Given the description of an element on the screen output the (x, y) to click on. 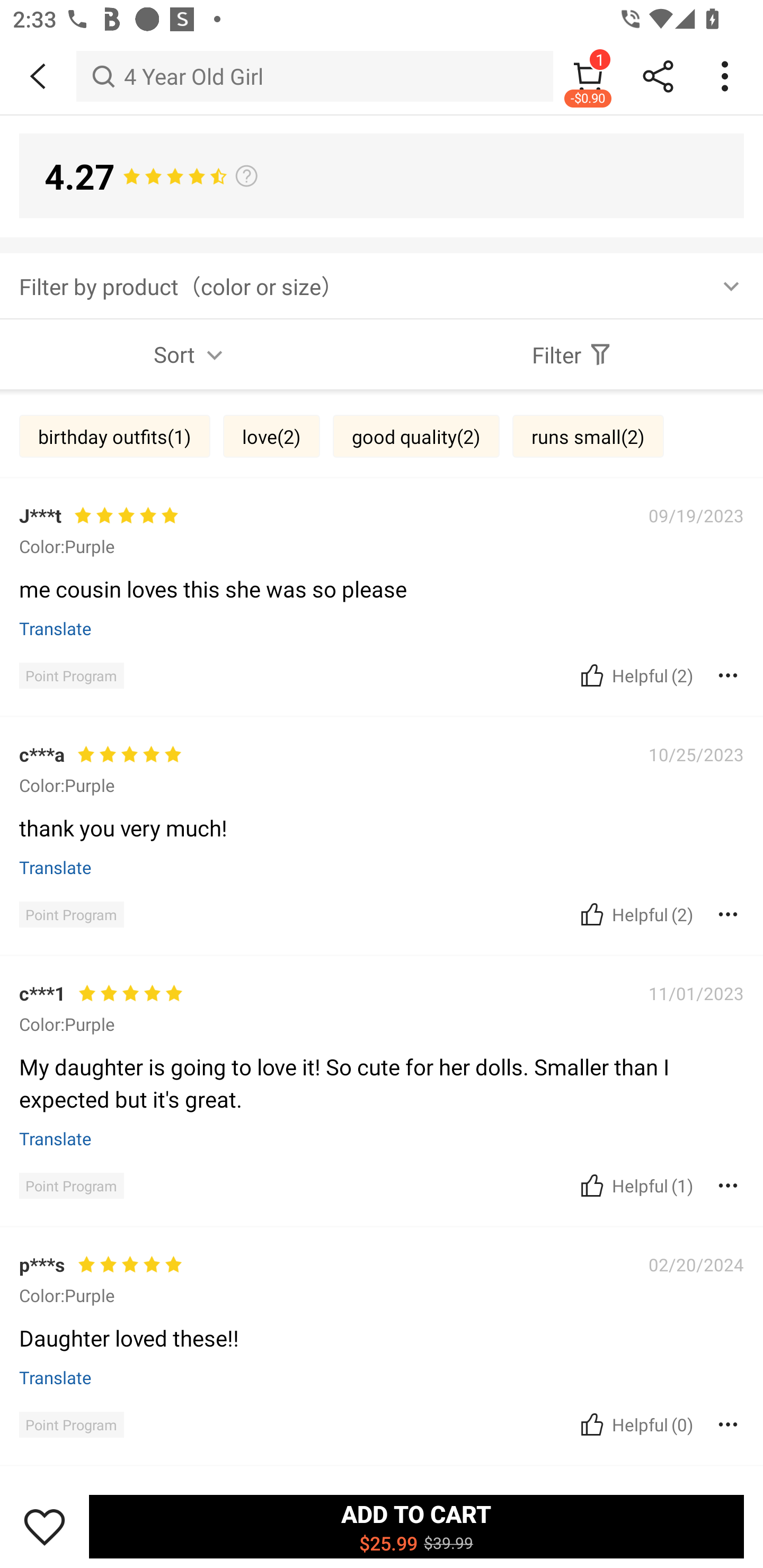
PHOTOS Marketplace 2 / 6 (381, 419)
BACK (38, 75)
1 -$0.90 (588, 75)
4 Year Old Girl (314, 75)
Filter by product（color or size） (381, 285)
Sort (190, 353)
Filter (572, 353)
birthday outfits(1) (114, 436)
love(2) (270, 436)
good quality(2) (415, 436)
runs small(2) (587, 436)
Translate (55, 627)
Cancel Helpful Was this article helpful? (2) (634, 675)
Point Program (71, 675)
$25.99 $39.99 -35% (381, 830)
Translate (55, 867)
Cancel Helpful Was this article helpful? (2) (634, 914)
Point Program (71, 914)
  QuickShip   This item is eligible for QuickShip (381, 1032)
Translate (55, 1138)
Cancel Helpful Was this article helpful? (1) (634, 1185)
Point Program (71, 1185)
Return Policy (370, 1317)
Translate (55, 1377)
Cancel Helpful Was this article helpful? (0) (634, 1424)
Point Program (71, 1424)
ADD TO CART $25.99 $39.99 (416, 1526)
Save (44, 1526)
